Given the description of an element on the screen output the (x, y) to click on. 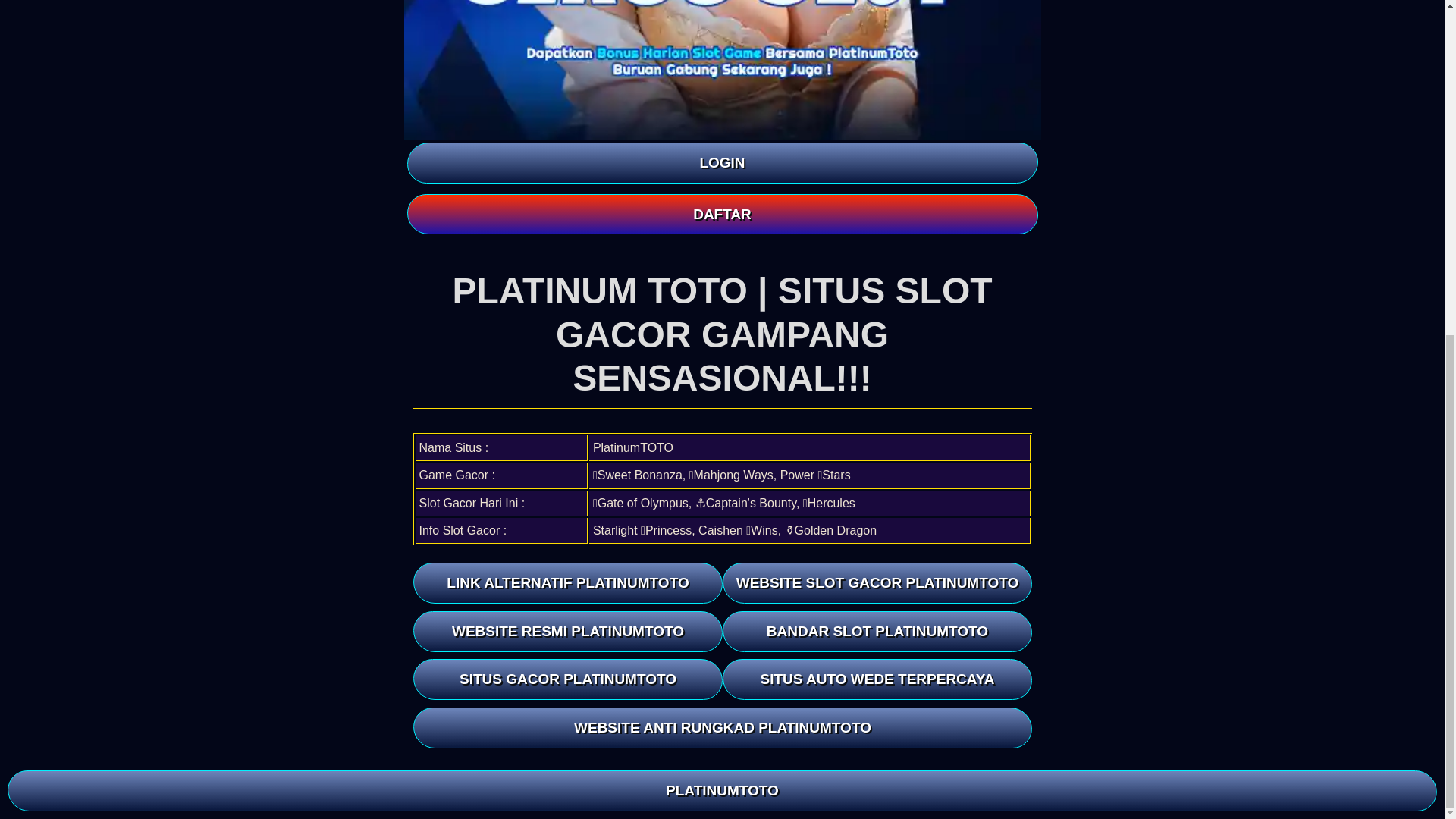
DAFTAR (721, 214)
SITUS AUTO WEDE TERPERCAYA (877, 679)
WEBSITE ANTI RUNGKAD PLATINUMTOTO (722, 727)
PLATINUMTOTO (722, 228)
BANDAR SLOT PLATINUMTOTO (877, 630)
LOGIN (721, 162)
WEBSITE RESMI PLATINUMTOTO (567, 630)
SITUS GACOR PLATINUMTOTO (567, 679)
WEBSITE SLOT GACOR PLATINUMTOTO (877, 582)
LINK ALTERNATIF PLATINUMTOTO (567, 582)
